Given the description of an element on the screen output the (x, y) to click on. 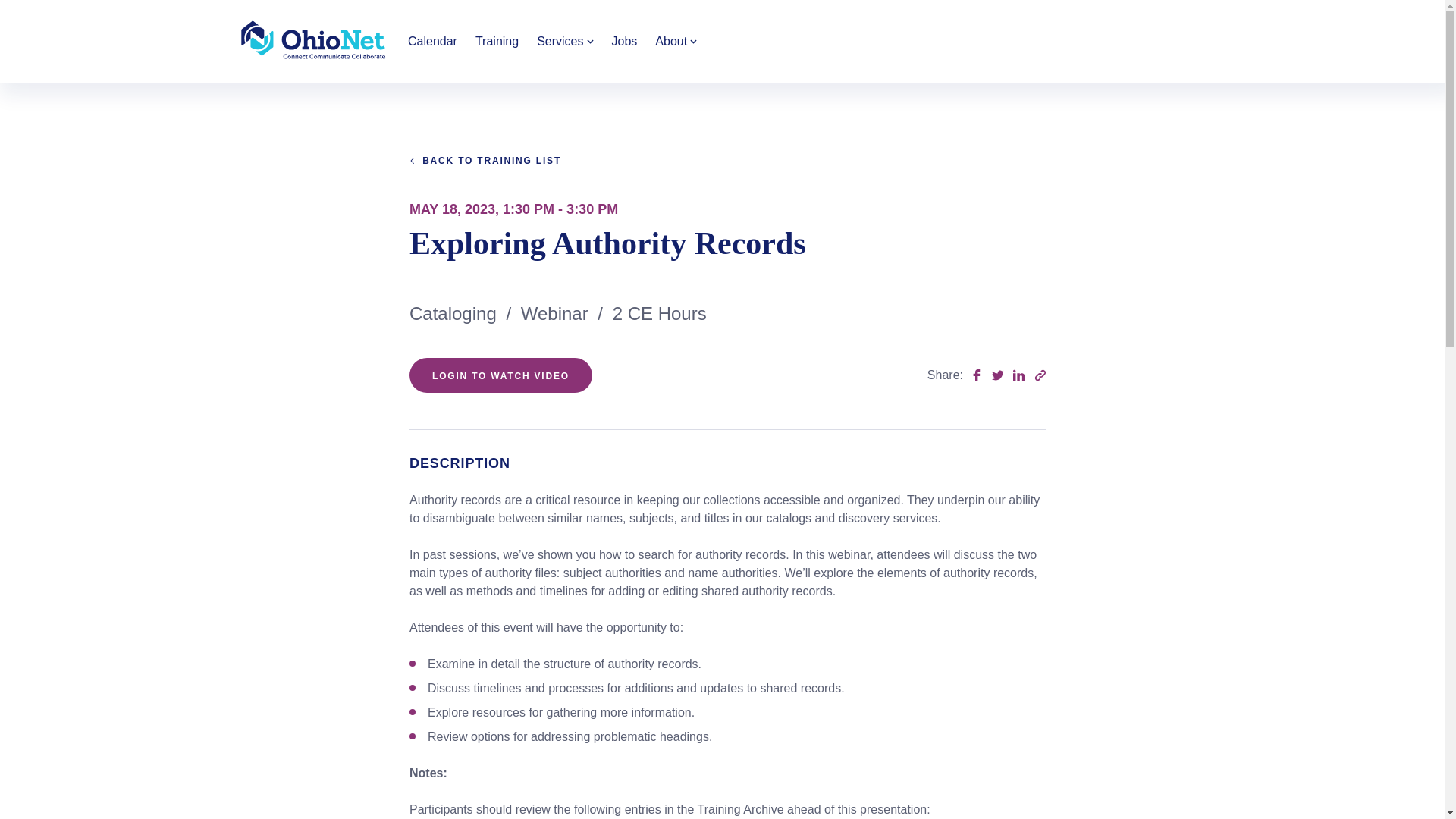
TWITTER (997, 374)
About (676, 41)
OhioNET - Connect, Communicate, Collaborate. (314, 39)
BACK TO TRAINING LIST (484, 160)
Training (496, 41)
Calendar (431, 41)
LOGIN TO WATCH VIDEO (500, 375)
Jobs (624, 41)
OhioNET - Connect, Communicate, Collaborate. (314, 41)
Copy to clipboard (1039, 374)
FACEBOOK (976, 374)
Services (564, 41)
LINKEDIN (1019, 374)
